Given the description of an element on the screen output the (x, y) to click on. 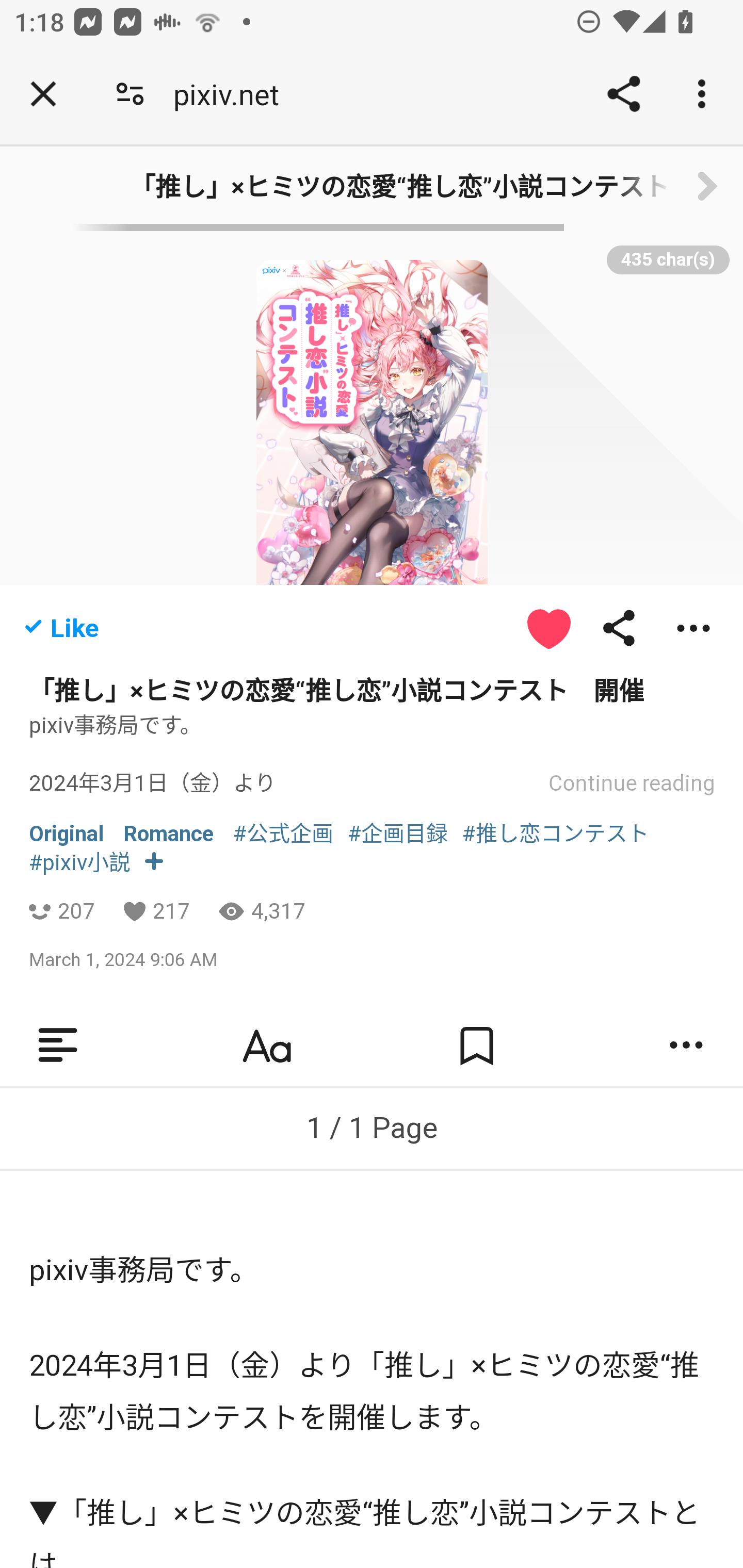
Close tab (43, 93)
Share (623, 93)
Customize and control Google Chrome (705, 93)
Connection is secure (129, 93)
pixiv.net (233, 93)
c93df036f41fef3e2396a3a3e63c4d14 (707, 188)
Original (66, 834)
 Romance  (168, 834)
#公式企画 # 公式企画 (282, 834)
#企画目録 # 企画目録 (397, 834)
#推し恋コンテスト # 推し恋コンテスト (556, 834)
#pixiv小説 # pixiv小説 (79, 863)
217 (171, 912)
